Given the description of an element on the screen output the (x, y) to click on. 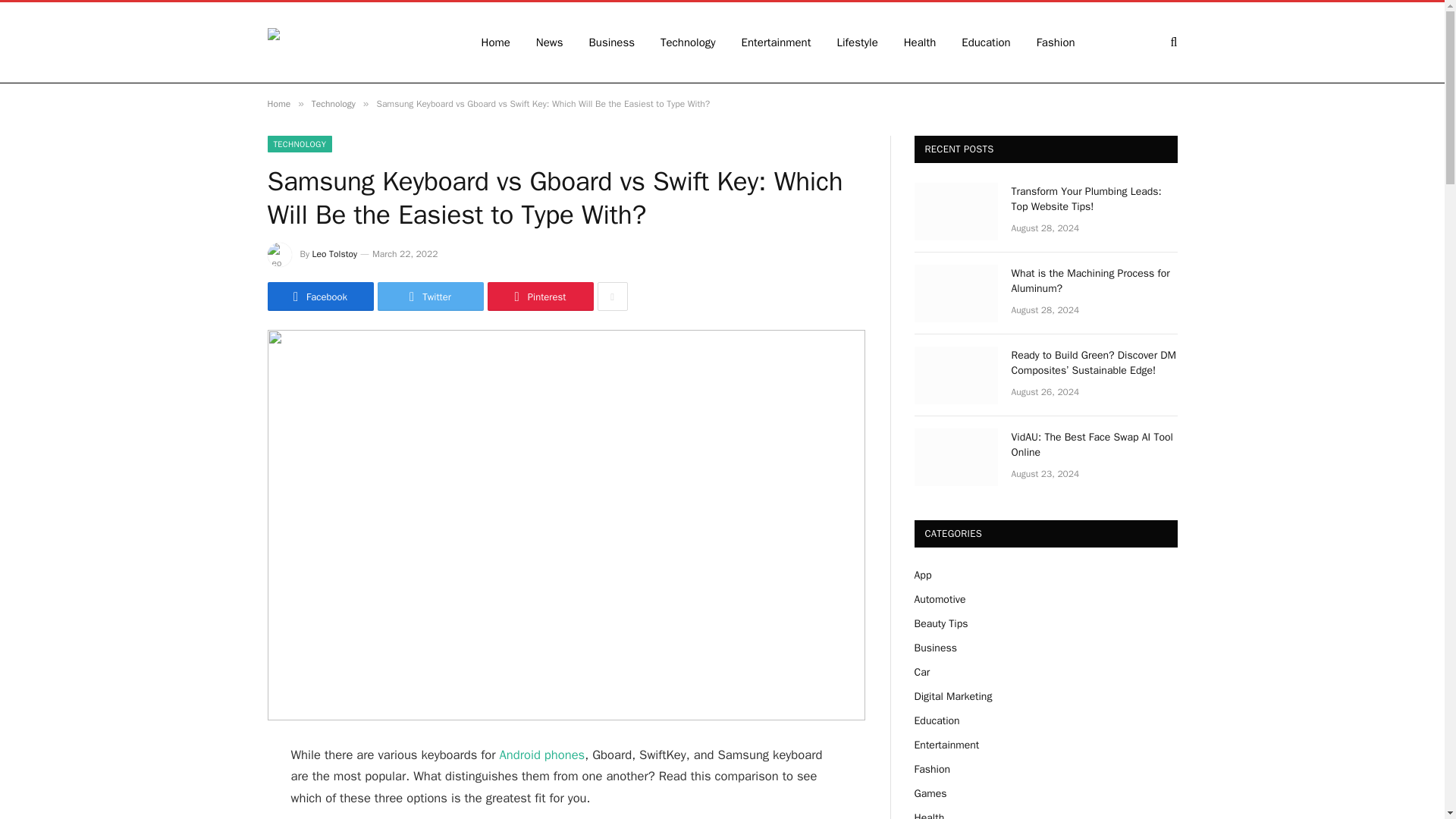
Posts by Leo Tolstoy (334, 254)
Technology (688, 42)
Leo Tolstoy (334, 254)
Twitter (430, 296)
Share on Pinterest (539, 296)
TECHNOLOGY (298, 143)
Technology (333, 103)
Pinterest (539, 296)
Android phones (542, 754)
Share on Facebook (319, 296)
